Given the description of an element on the screen output the (x, y) to click on. 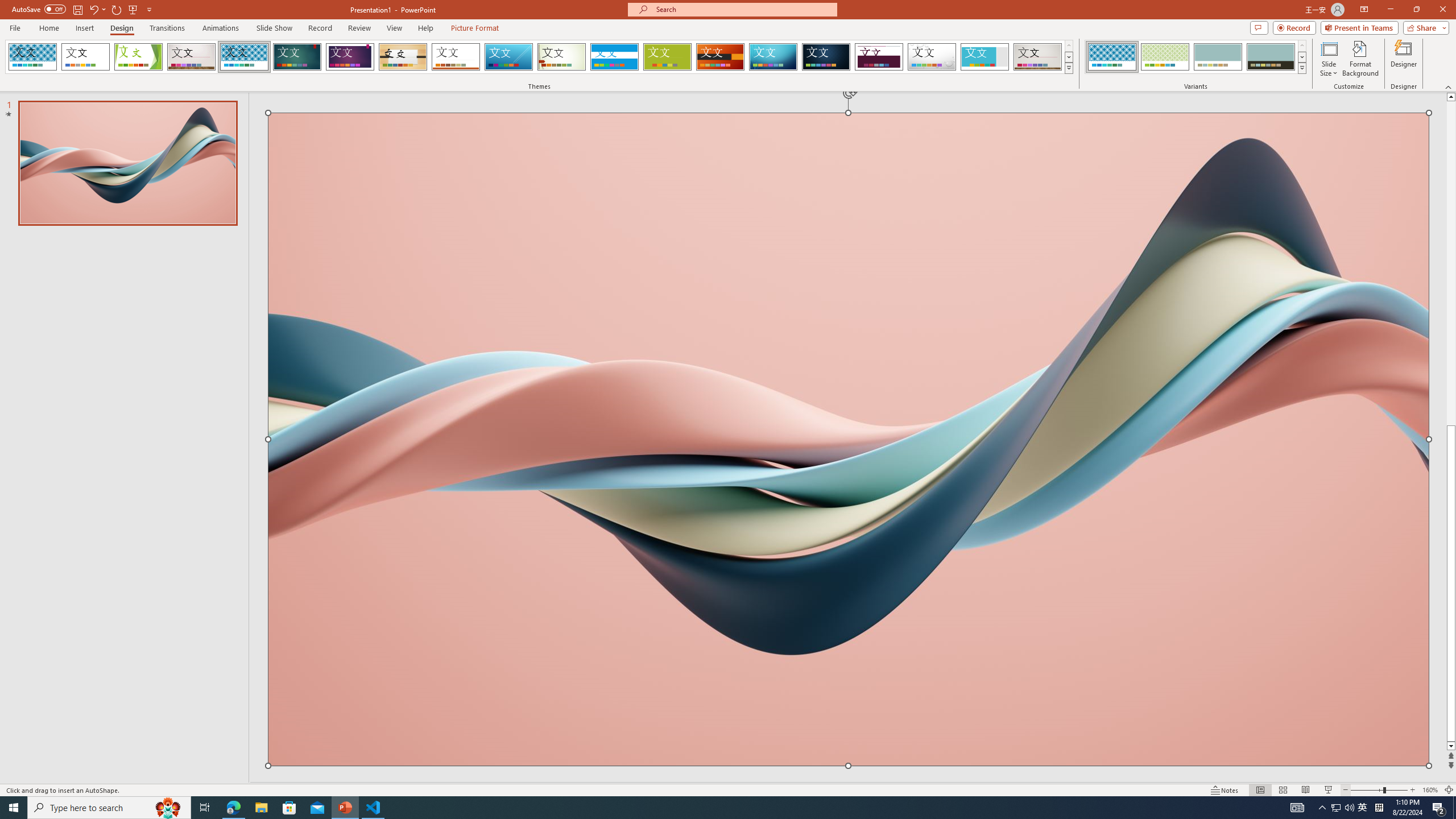
Circuit (772, 56)
Row up (1301, 45)
AutomationID: ThemeVariantsGallery (1195, 56)
Dividend (879, 56)
Integral Variant 4 (1270, 56)
Designer (1403, 58)
Integral Variant 3 (1217, 56)
Format Background (1360, 58)
Class: NetUIImage (1302, 68)
Ion (296, 56)
